Given the description of an element on the screen output the (x, y) to click on. 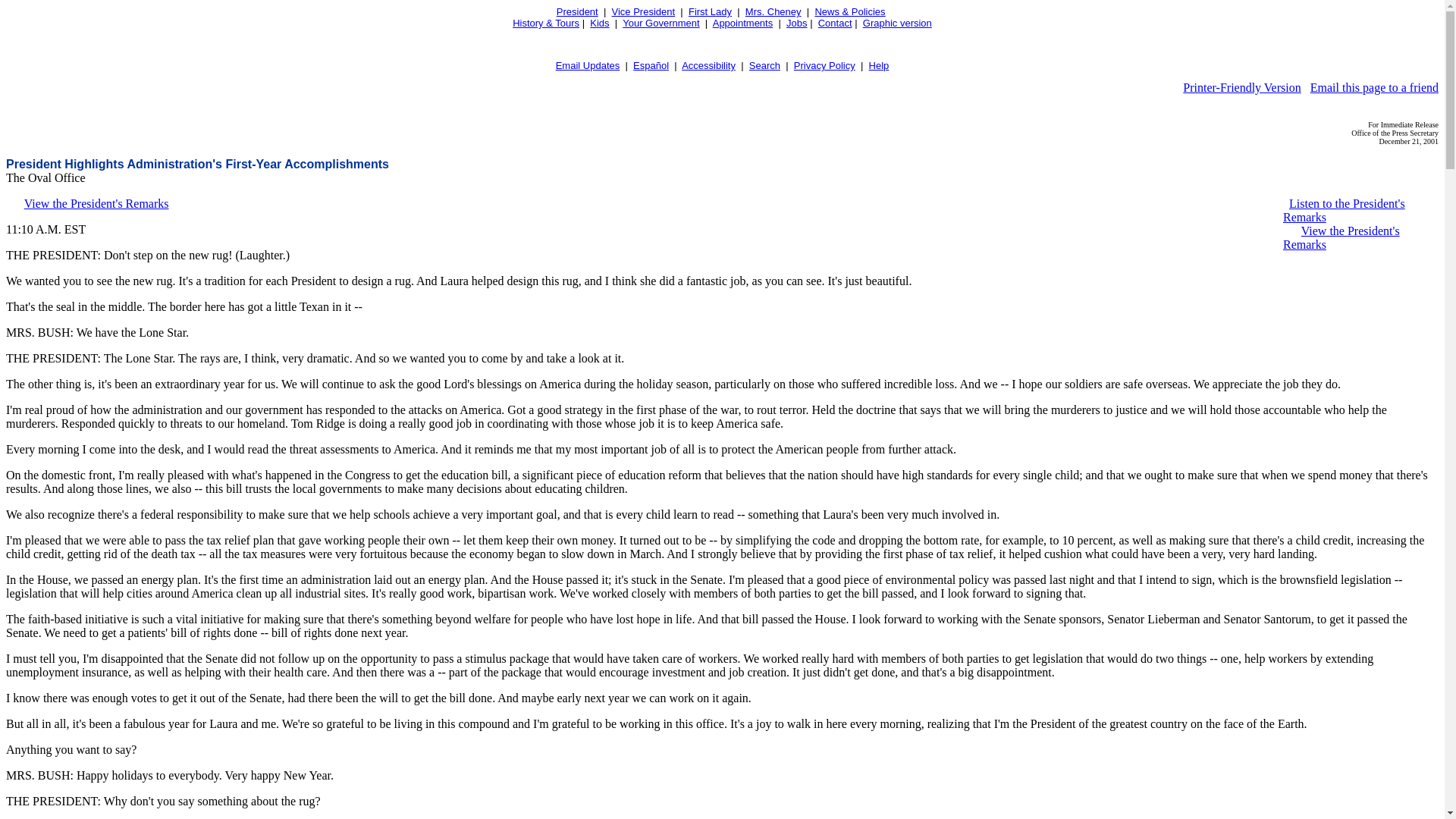
Search (764, 65)
Appointments (743, 22)
Jobs (796, 22)
Email Updates (588, 65)
Accessibility (708, 65)
Vice President (643, 11)
First Lady (710, 11)
View the President's Remarks (96, 203)
Kids (598, 22)
Mrs. Cheney (773, 11)
Contact (834, 22)
Printer-Friendly Version (1241, 87)
Your Government (660, 22)
View the President's Remarks (1340, 237)
Graphic version (897, 22)
